Given the description of an element on the screen output the (x, y) to click on. 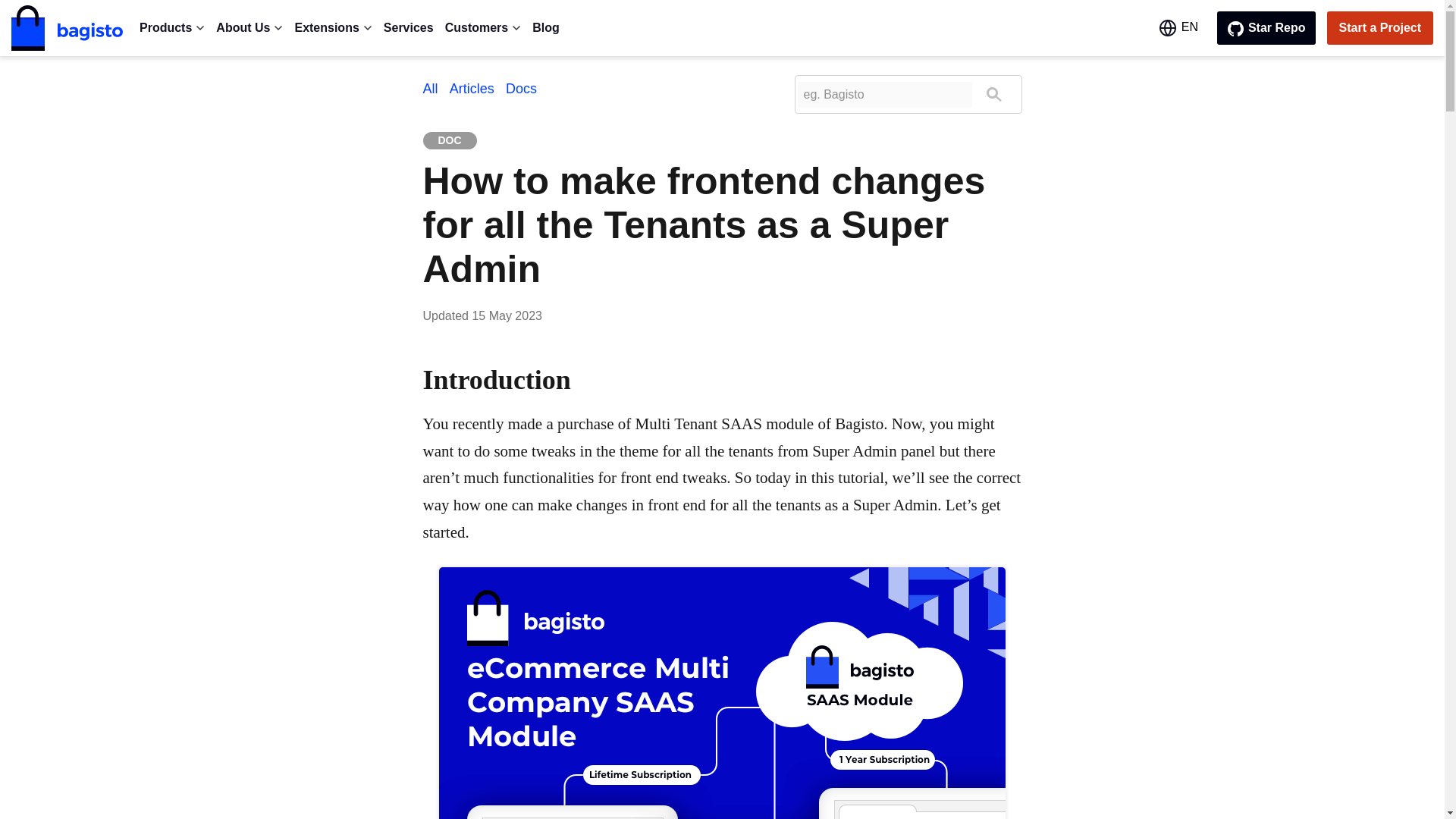
Services (408, 28)
About Us (248, 28)
Products (172, 28)
Bagisto (66, 27)
